Given the description of an element on the screen output the (x, y) to click on. 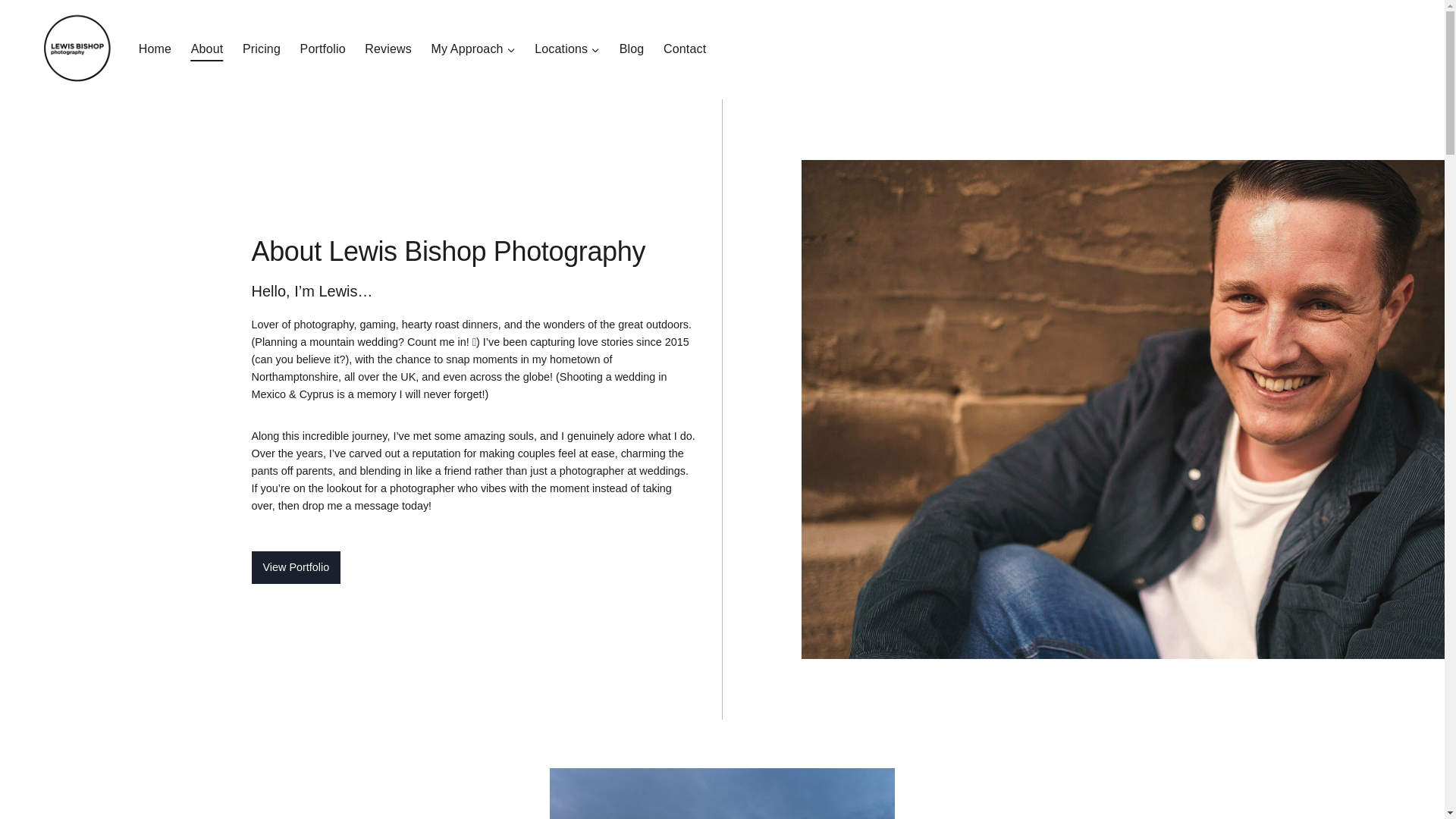
About (206, 48)
My Approach (473, 48)
Northamptonshire (294, 377)
Reviews (387, 48)
Locations (567, 48)
Pricing (260, 48)
Portfolio (322, 48)
Blog (631, 48)
View Portfolio (295, 567)
Contact (684, 48)
